Given the description of an element on the screen output the (x, y) to click on. 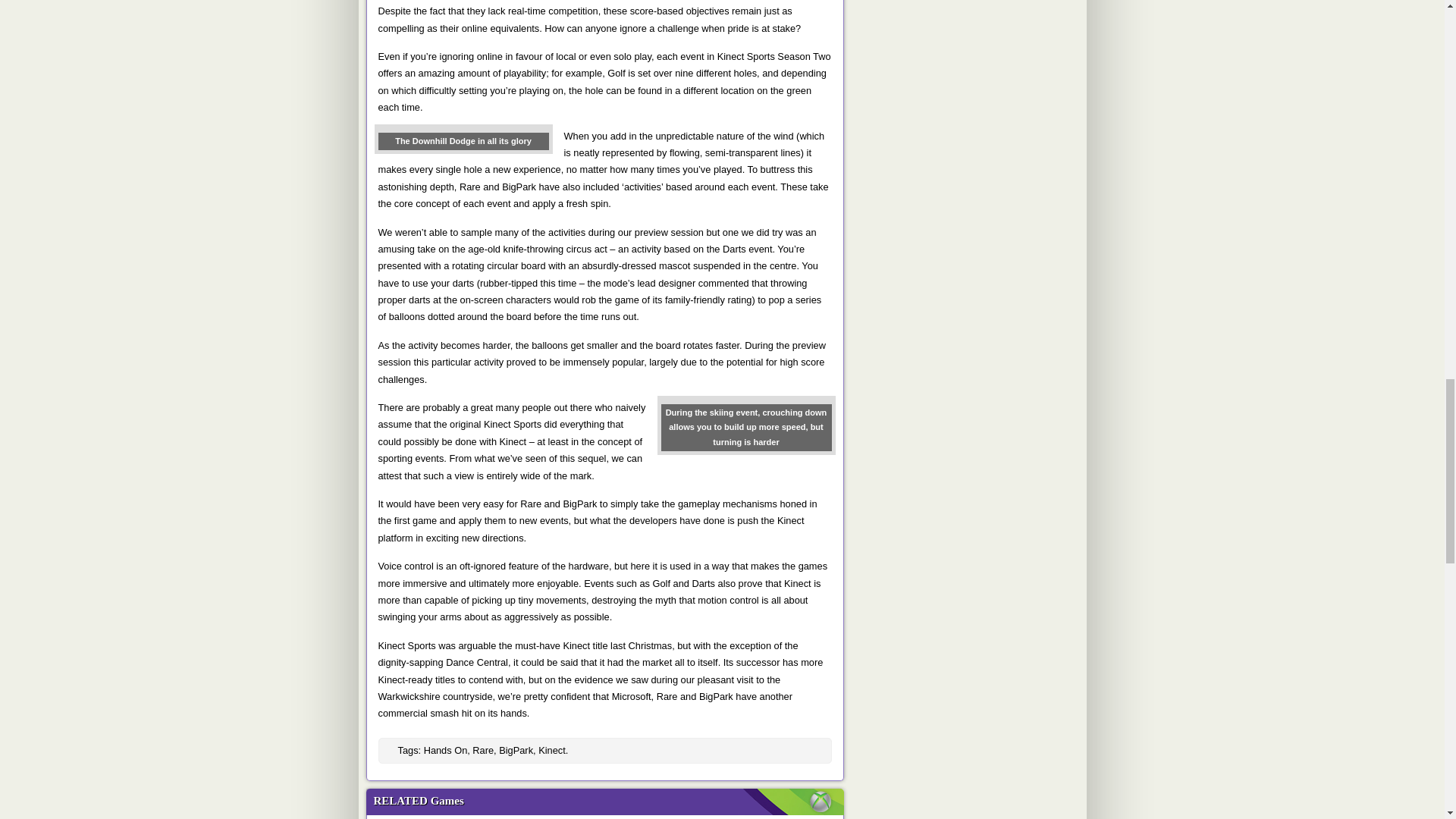
Related Games (606, 801)
